Given the description of an element on the screen output the (x, y) to click on. 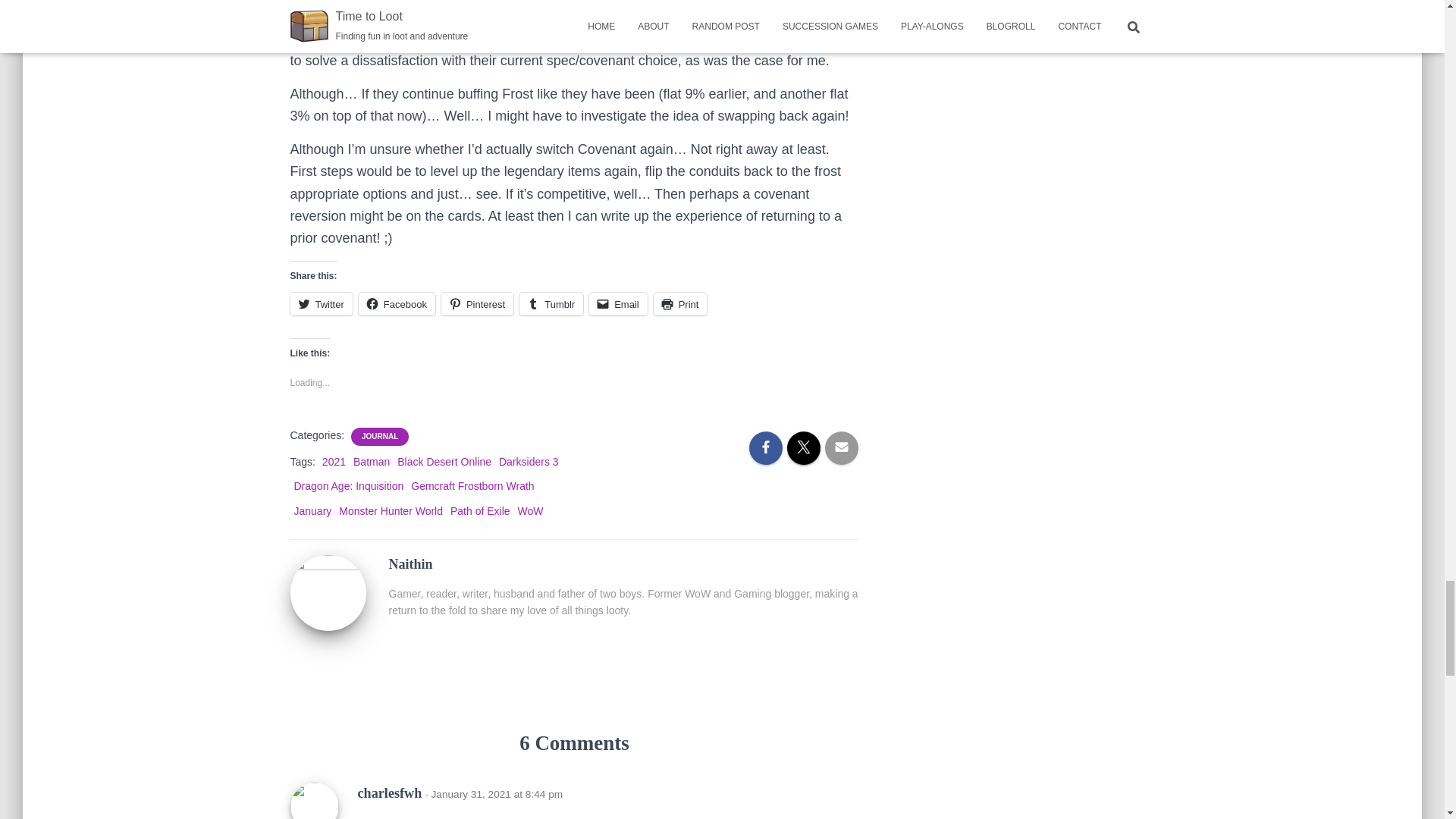
Click to share on Facebook (396, 303)
Click to share on Tumblr (551, 303)
Facebook (396, 303)
Click to share on Twitter (320, 303)
Click to share on Pinterest (477, 303)
Twitter (320, 303)
Pinterest (477, 303)
Click to email a link to a friend (618, 303)
